Given the description of an element on the screen output the (x, y) to click on. 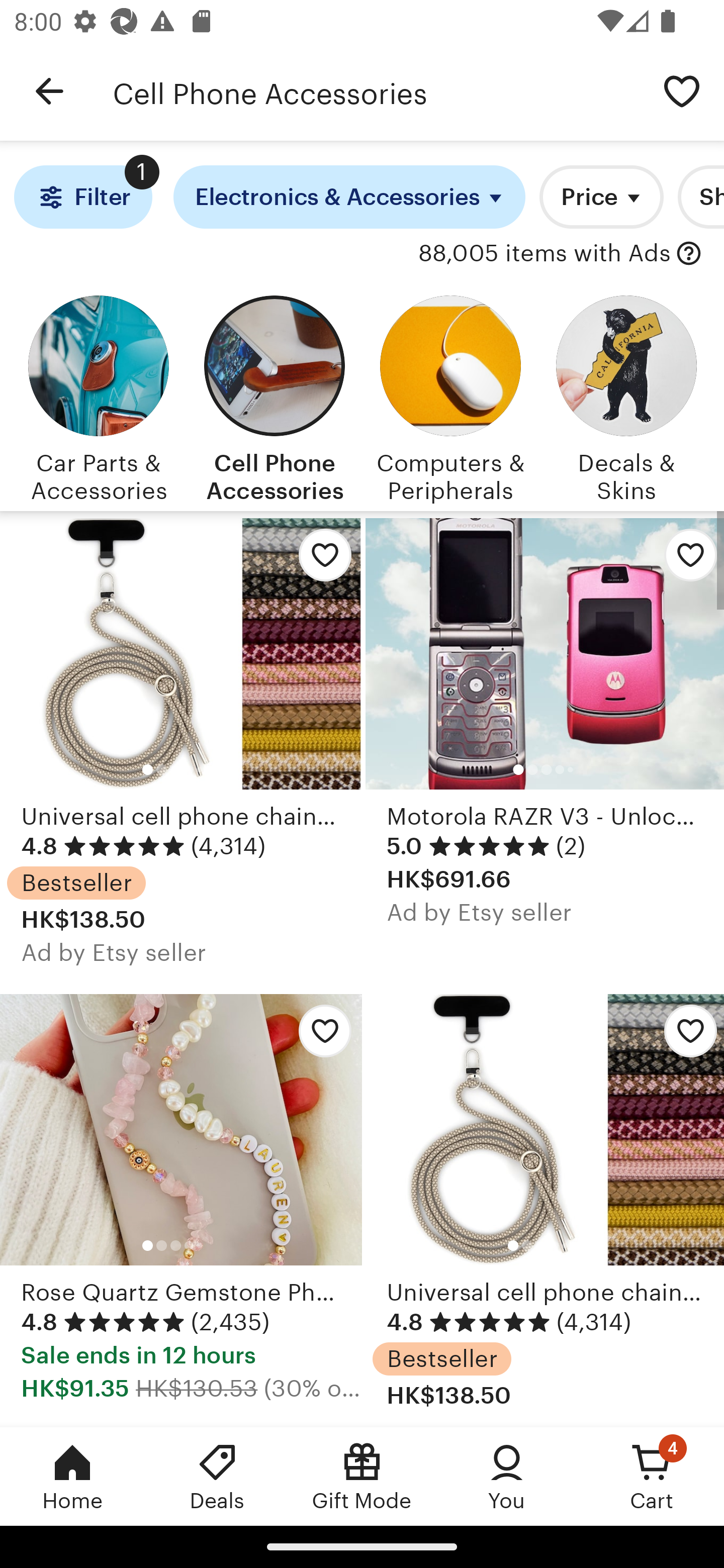
Navigate up (49, 91)
Save search (681, 90)
Cell Phone Accessories (375, 91)
Filter (82, 197)
Electronics & Accessories (349, 197)
Price (601, 197)
88,005 items with Ads (544, 253)
with Ads (688, 253)
Car Parts & Accessories (97, 395)
Cell Phone Accessories (273, 395)
Computers & Peripherals (449, 395)
Decals & Skins (625, 395)
Deals (216, 1475)
Gift Mode (361, 1475)
You (506, 1475)
Cart, 4 new notifications Cart (651, 1475)
